Given the description of an element on the screen output the (x, y) to click on. 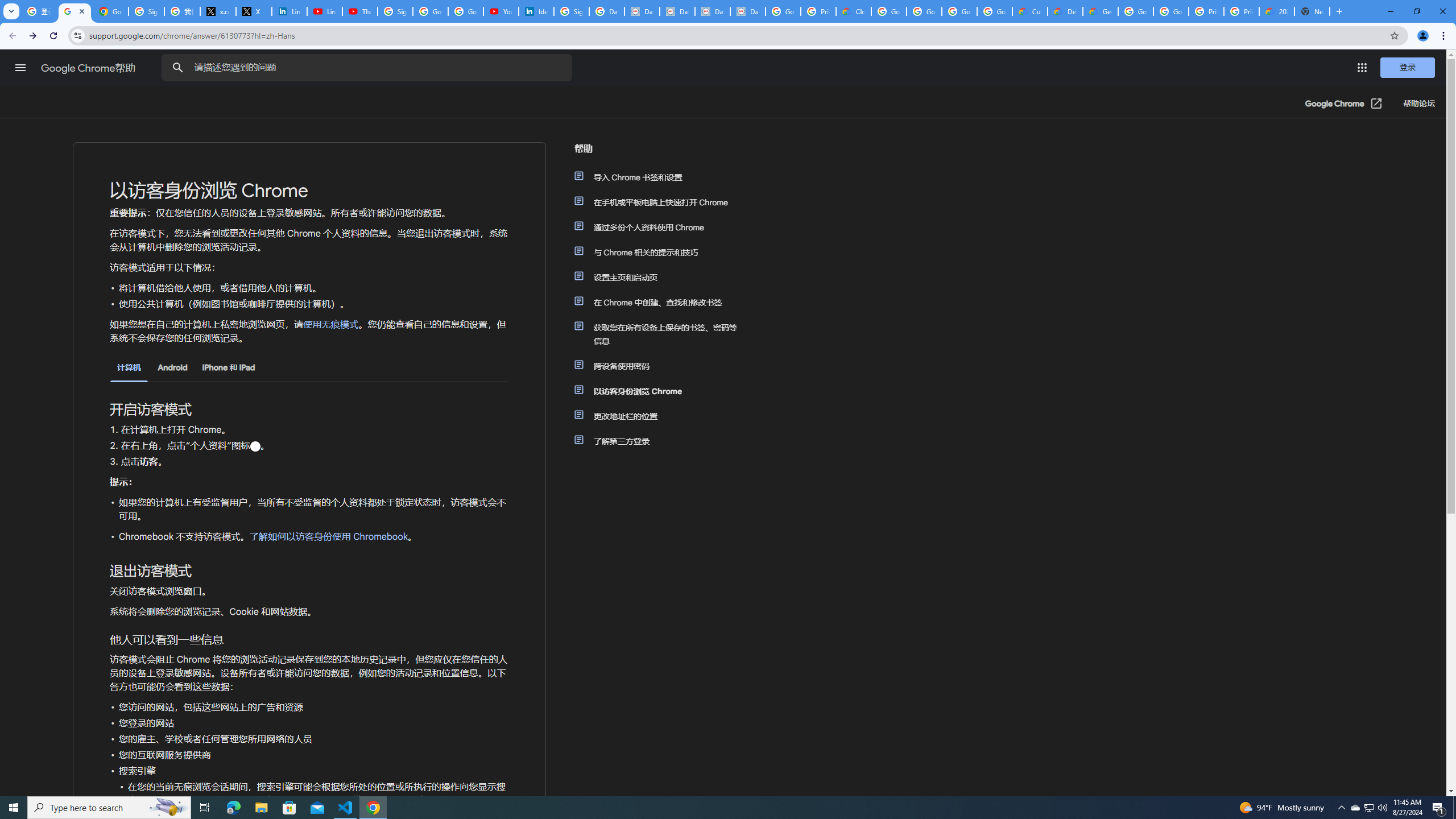
Customer Care | Google Cloud (1029, 11)
X (253, 11)
